Given the description of an element on the screen output the (x, y) to click on. 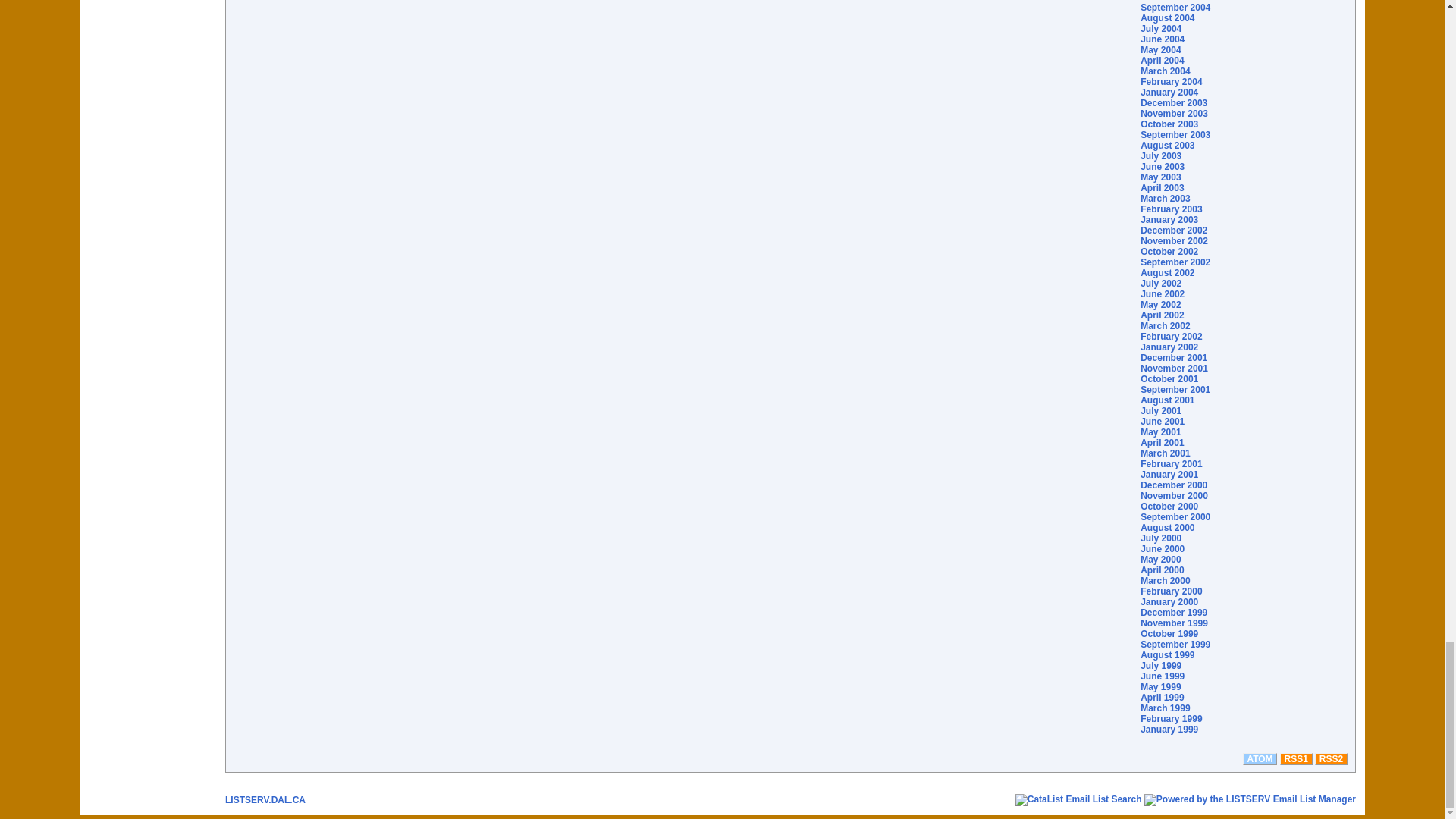
CataList Email List Search (1077, 799)
Powered by the LISTSERV Email List Manager (1249, 799)
